Given the description of an element on the screen output the (x, y) to click on. 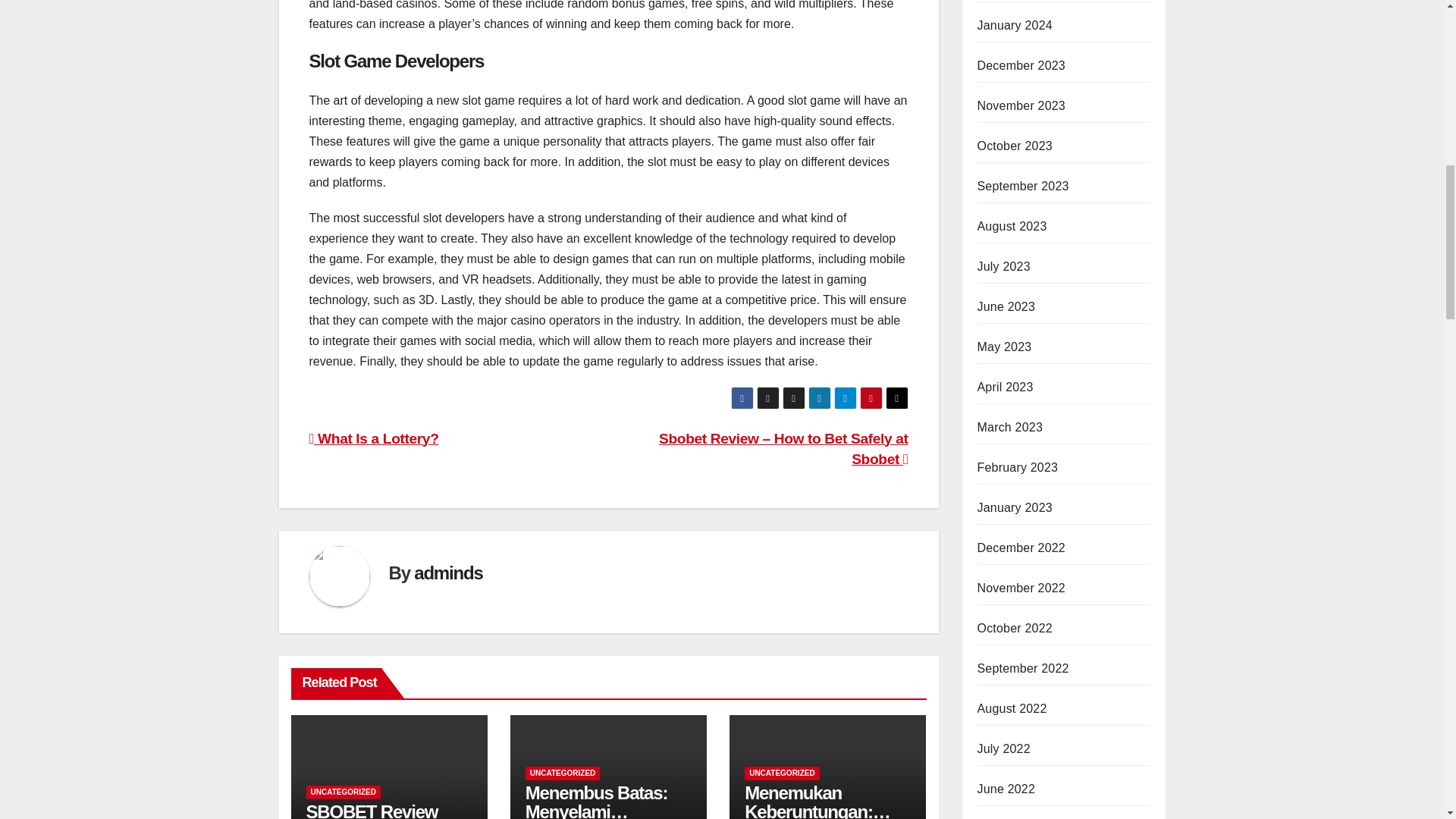
Menembus Batas: Menyelami Keasyikan Slot Server Luar Negeri (598, 800)
SBOBET Review (371, 809)
UNCATEGORIZED (342, 792)
What Is a Lottery? (373, 438)
UNCATEGORIZED (781, 772)
adminds (447, 572)
Permalink to: SBOBET Review (371, 809)
UNCATEGORIZED (562, 772)
